Given the description of an element on the screen output the (x, y) to click on. 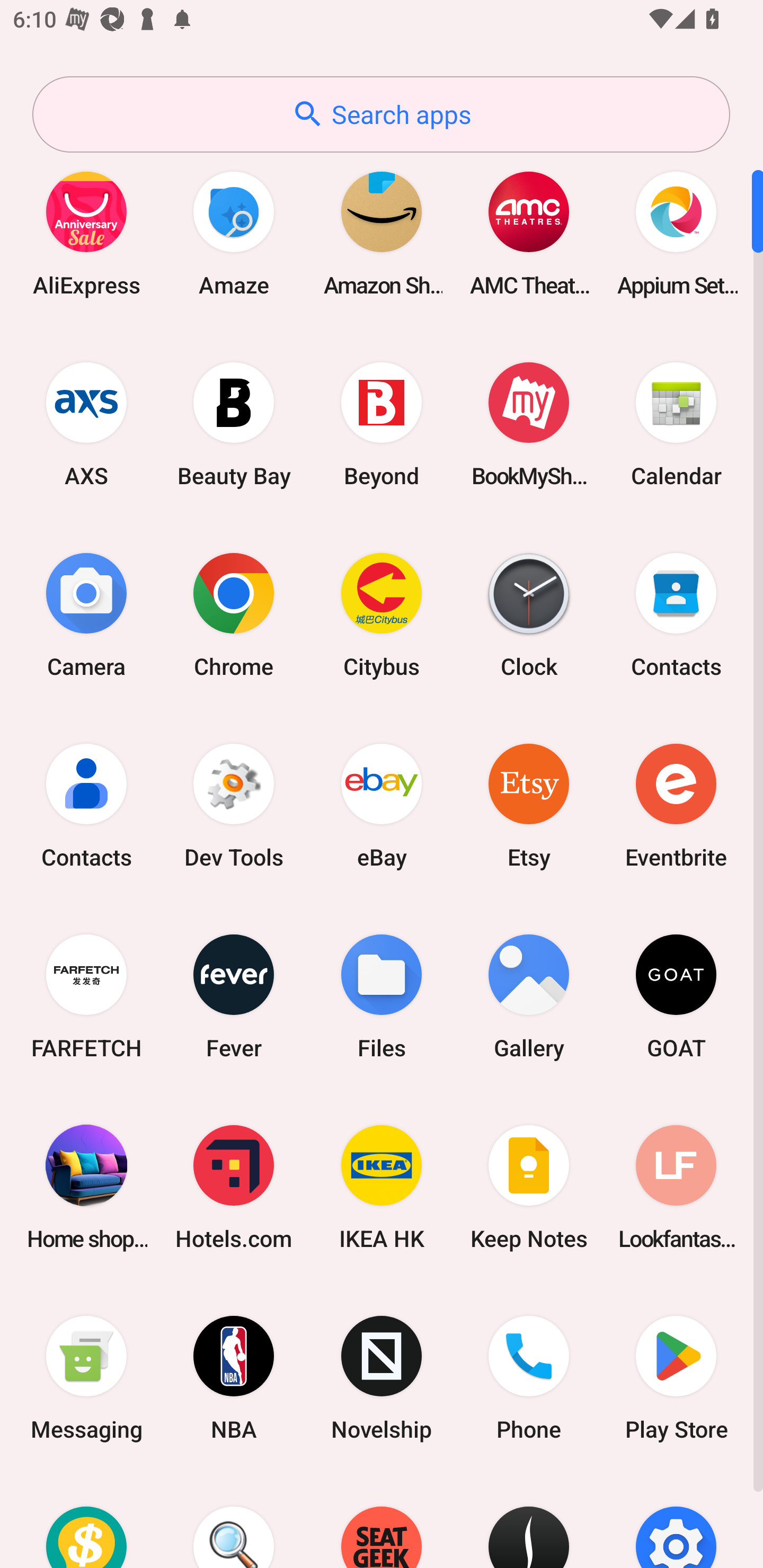
  Search apps (381, 114)
AliExpress (86, 233)
Amaze (233, 233)
Amazon Shopping (381, 233)
AMC Theatres (528, 233)
Appium Settings (676, 233)
AXS (86, 424)
Beauty Bay (233, 424)
Beyond (381, 424)
BookMyShow (528, 424)
Calendar (676, 424)
Camera (86, 614)
Chrome (233, 614)
Citybus (381, 614)
Clock (528, 614)
Contacts (676, 614)
Contacts (86, 805)
Dev Tools (233, 805)
eBay (381, 805)
Etsy (528, 805)
Eventbrite (676, 805)
FARFETCH (86, 996)
Fever (233, 996)
Files (381, 996)
Gallery (528, 996)
GOAT (676, 996)
Home shopping (86, 1186)
Hotels.com (233, 1186)
IKEA HK (381, 1186)
Keep Notes (528, 1186)
Lookfantastic (676, 1186)
Messaging (86, 1377)
NBA (233, 1377)
Novelship (381, 1377)
Phone (528, 1377)
Play Store (676, 1377)
